Given the description of an element on the screen output the (x, y) to click on. 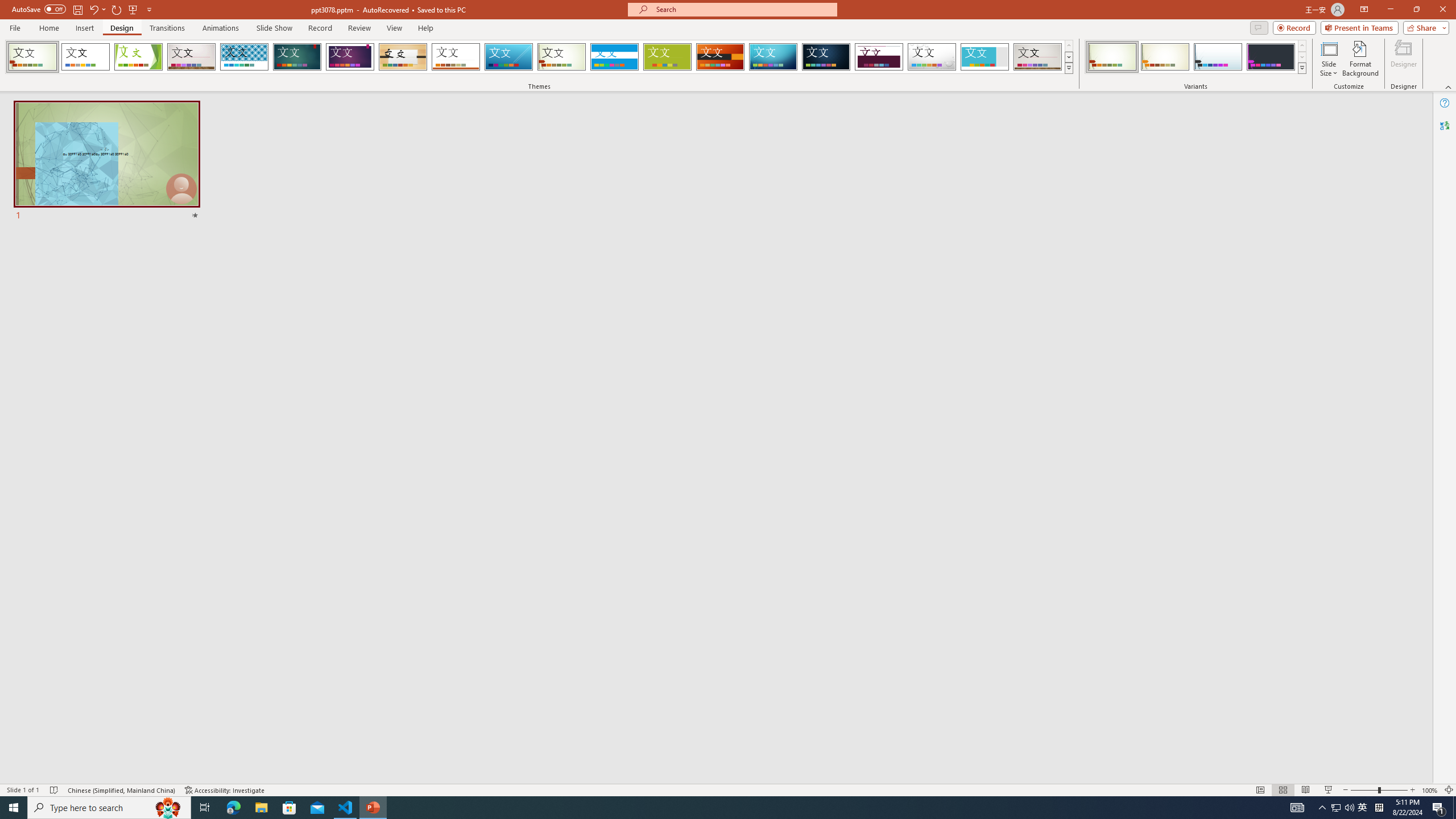
Basis (667, 56)
Gallery (1037, 56)
Office Theme (85, 56)
Translator (1444, 125)
Damask (826, 56)
Wisp Variant 2 (1164, 56)
Integral (244, 56)
